Given the description of an element on the screen output the (x, y) to click on. 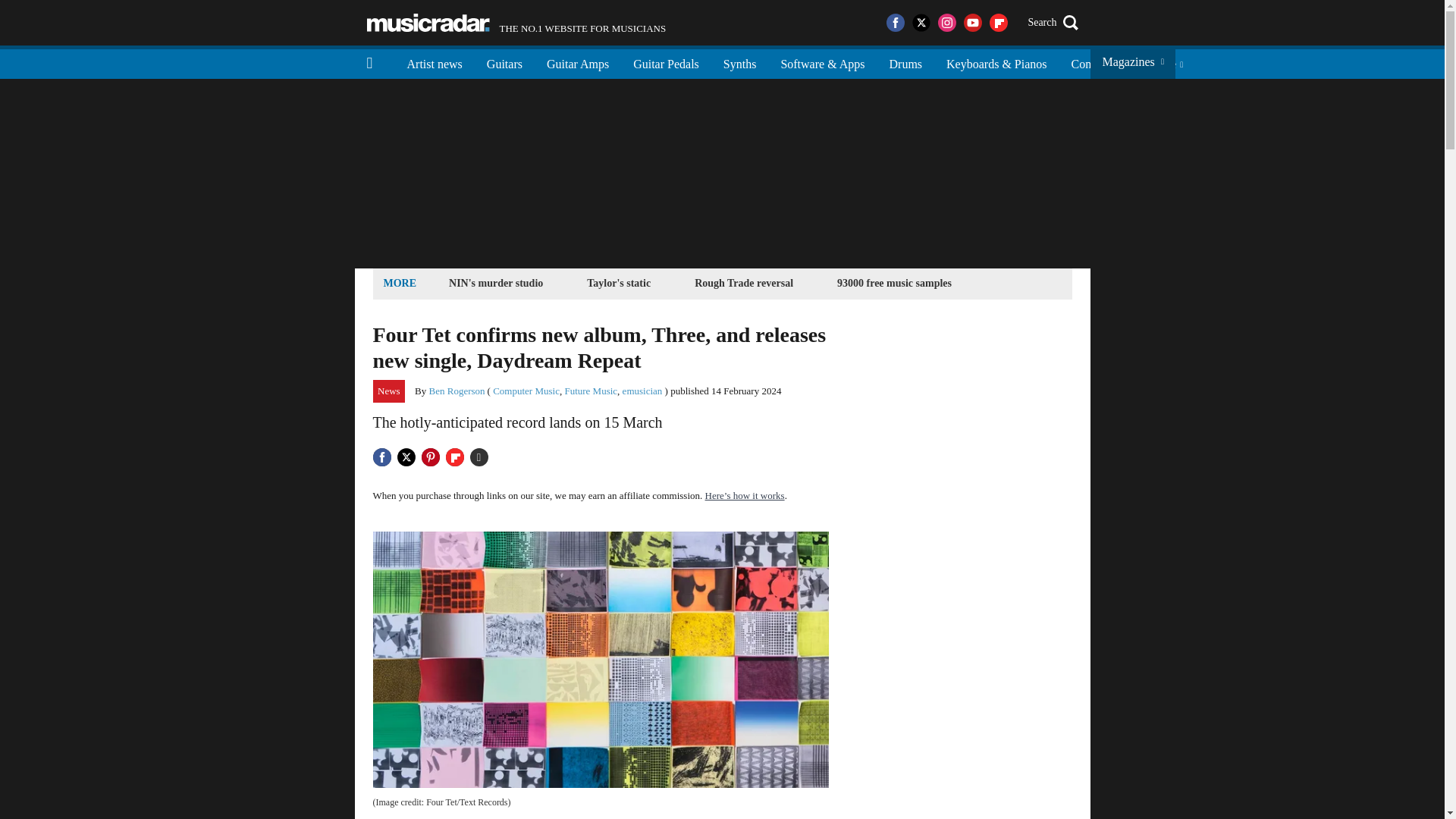
Guitars (504, 61)
NIN's murder studio (496, 282)
Drums (905, 61)
93000 free music samples (516, 22)
Rough Trade reversal (893, 282)
Controllers (742, 282)
News (1097, 61)
Taylor's static (389, 391)
Music Radar (618, 282)
